Given the description of an element on the screen output the (x, y) to click on. 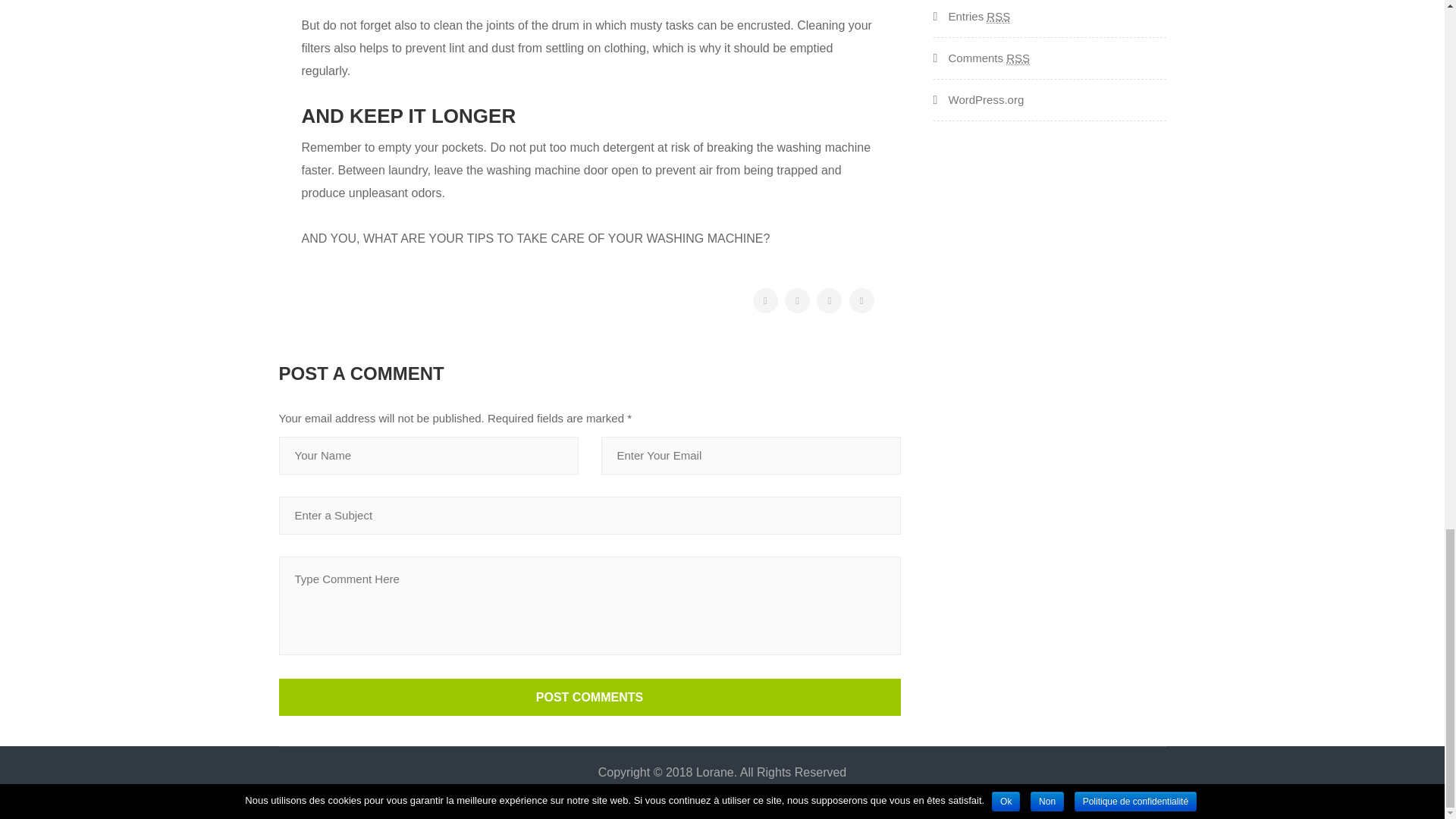
POST COMMENTS (590, 696)
